Given the description of an element on the screen output the (x, y) to click on. 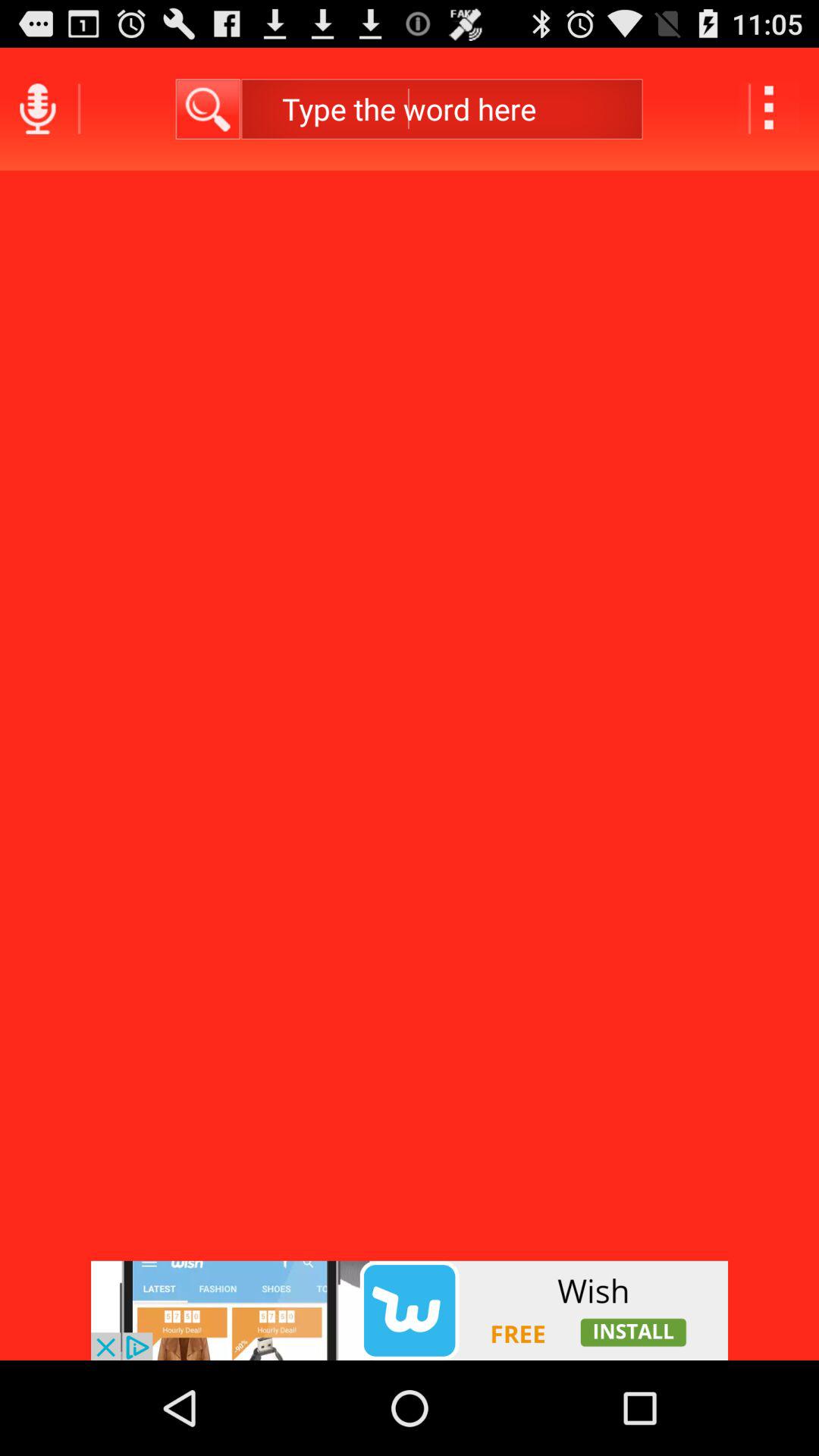
speech to text button (37, 108)
